Given the description of an element on the screen output the (x, y) to click on. 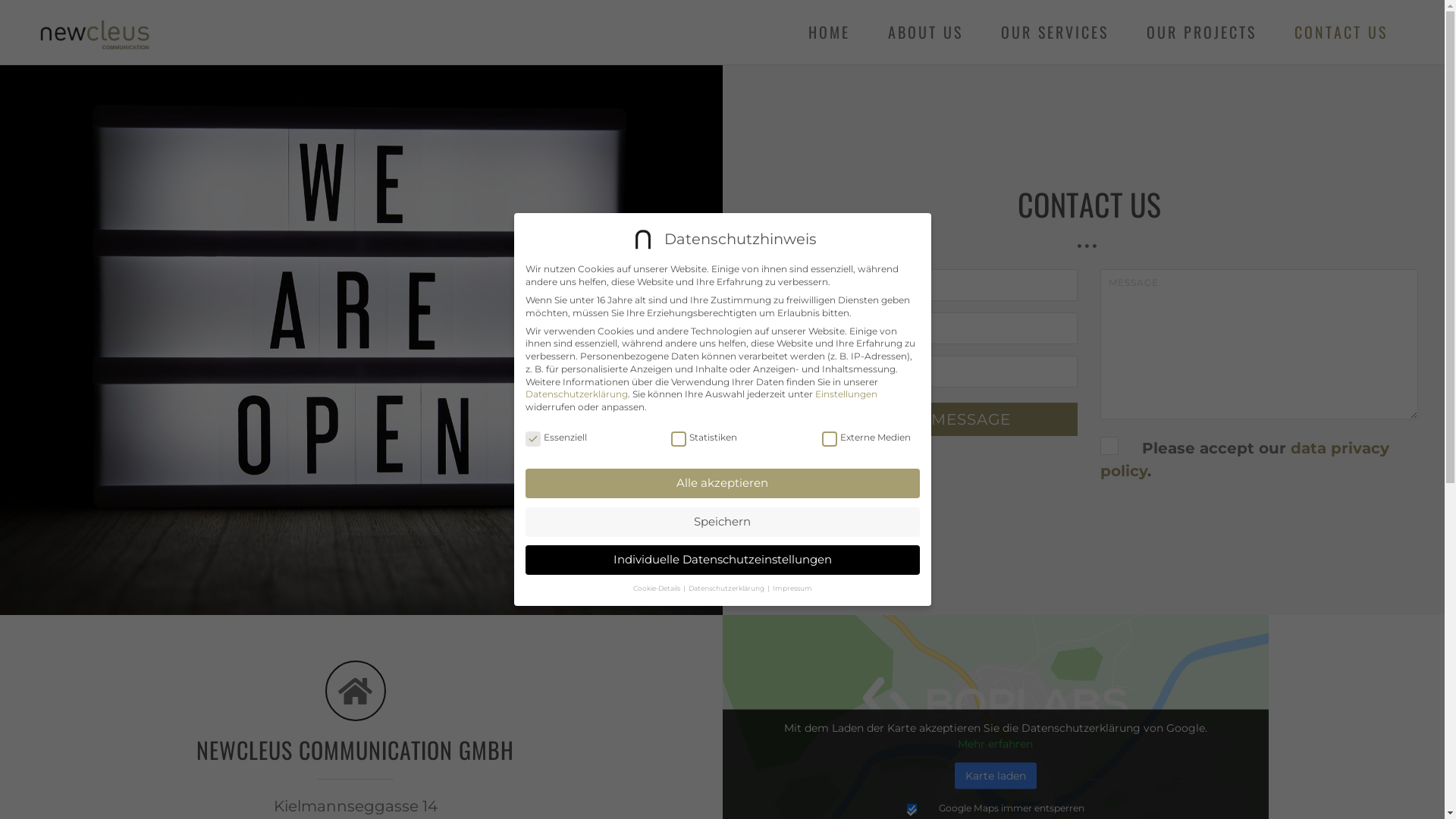
data privacy policy Element type: text (1244, 459)
Individuelle Datenschutzeinstellungen Element type: text (721, 559)
HOME Element type: text (829, 32)
ABOUT US Element type: text (925, 32)
Cookie-Details Element type: text (656, 587)
Mehr erfahren Element type: text (994, 743)
Speichern Element type: text (721, 521)
Send Your Message Element type: text (918, 419)
Impressum Element type: text (791, 587)
OUR SERVICES Element type: text (1054, 32)
Alle akzeptieren Element type: text (721, 483)
OUR PROJECTS Element type: text (1201, 32)
Einstellungen Element type: text (845, 393)
Karte laden Element type: text (994, 775)
CONTACT US Element type: text (1340, 32)
